Given the description of an element on the screen output the (x, y) to click on. 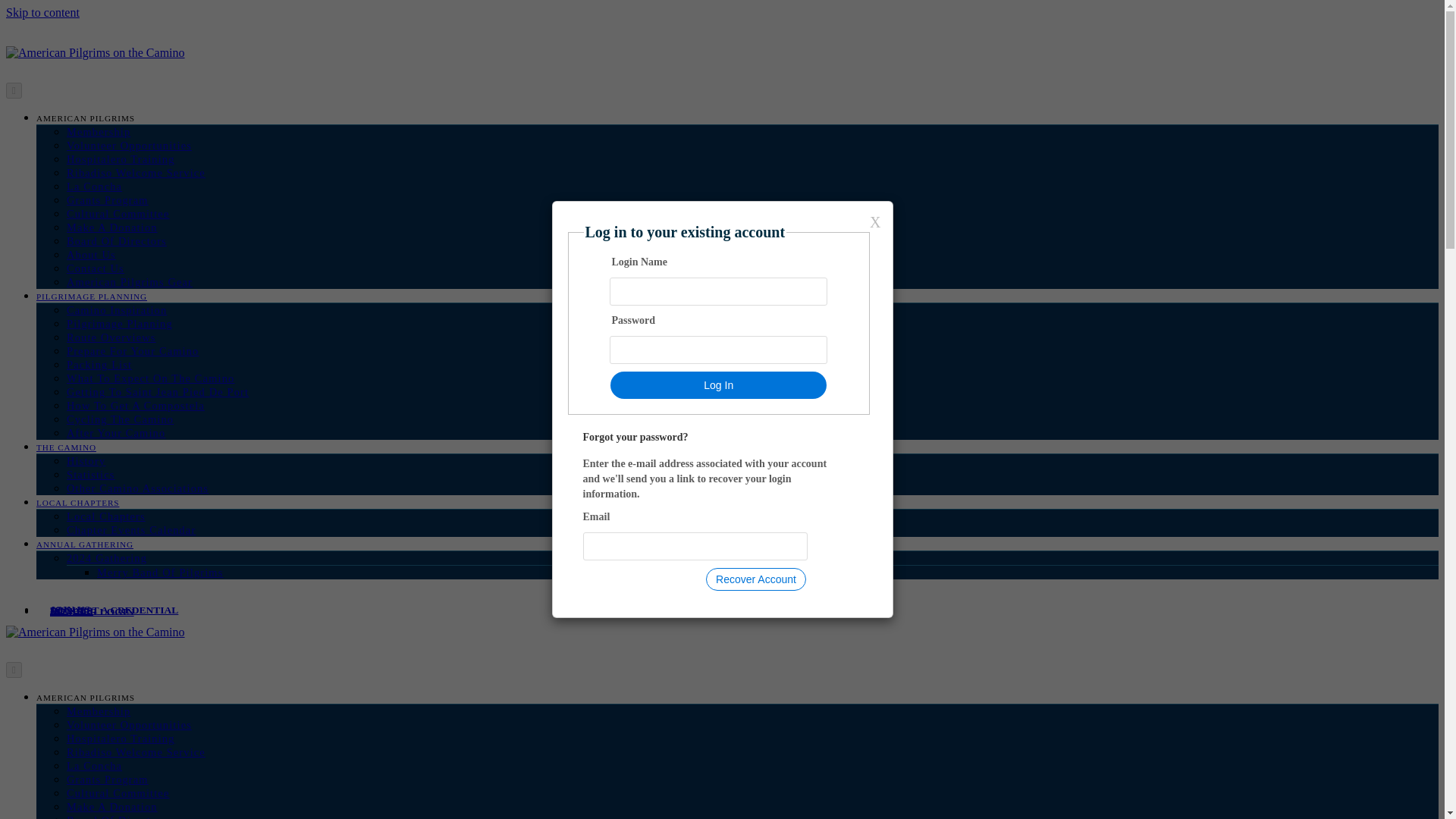
Other Camino Associations (137, 488)
Merry Band Of Pilgrims (159, 572)
About Us (91, 254)
Statistics (90, 474)
Contact Us (94, 268)
Pilgrimage Planning (119, 323)
THE CAMINO (66, 447)
Make A Donation (111, 227)
JOIN US (69, 608)
Grants Program (107, 200)
Hospitalero Training (120, 159)
